Given the description of an element on the screen output the (x, y) to click on. 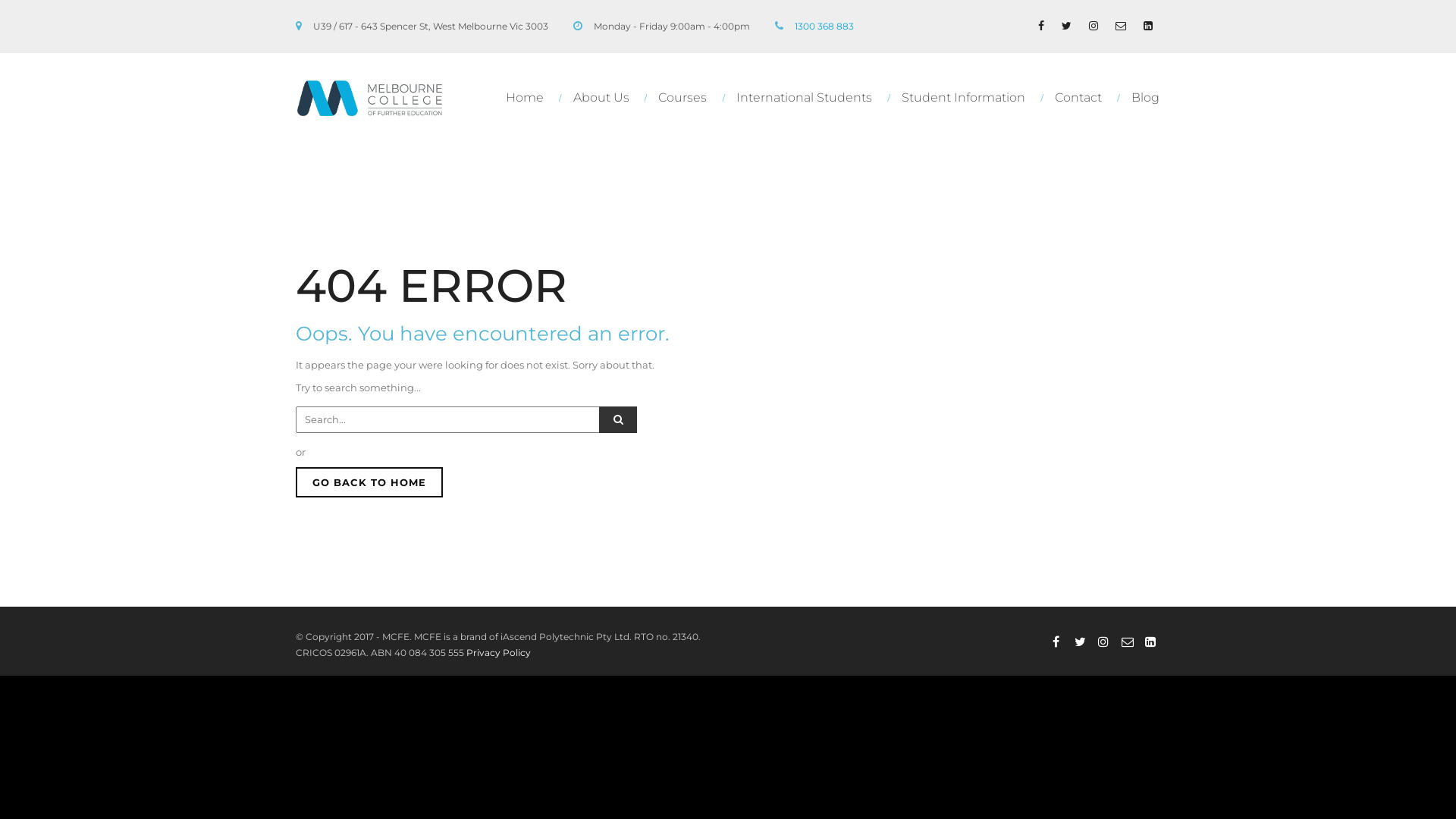
Blog Element type: text (1139, 97)
Contact Element type: text (1081, 97)
Student Information Element type: text (966, 97)
International Students Element type: text (807, 97)
Privacy Policy Element type: text (498, 652)
Home Element type: text (527, 97)
GO BACK TO HOME Element type: text (368, 482)
About Us Element type: text (604, 97)
Courses Element type: text (685, 97)
1300 368 883 Element type: text (823, 25)
